Given the description of an element on the screen output the (x, y) to click on. 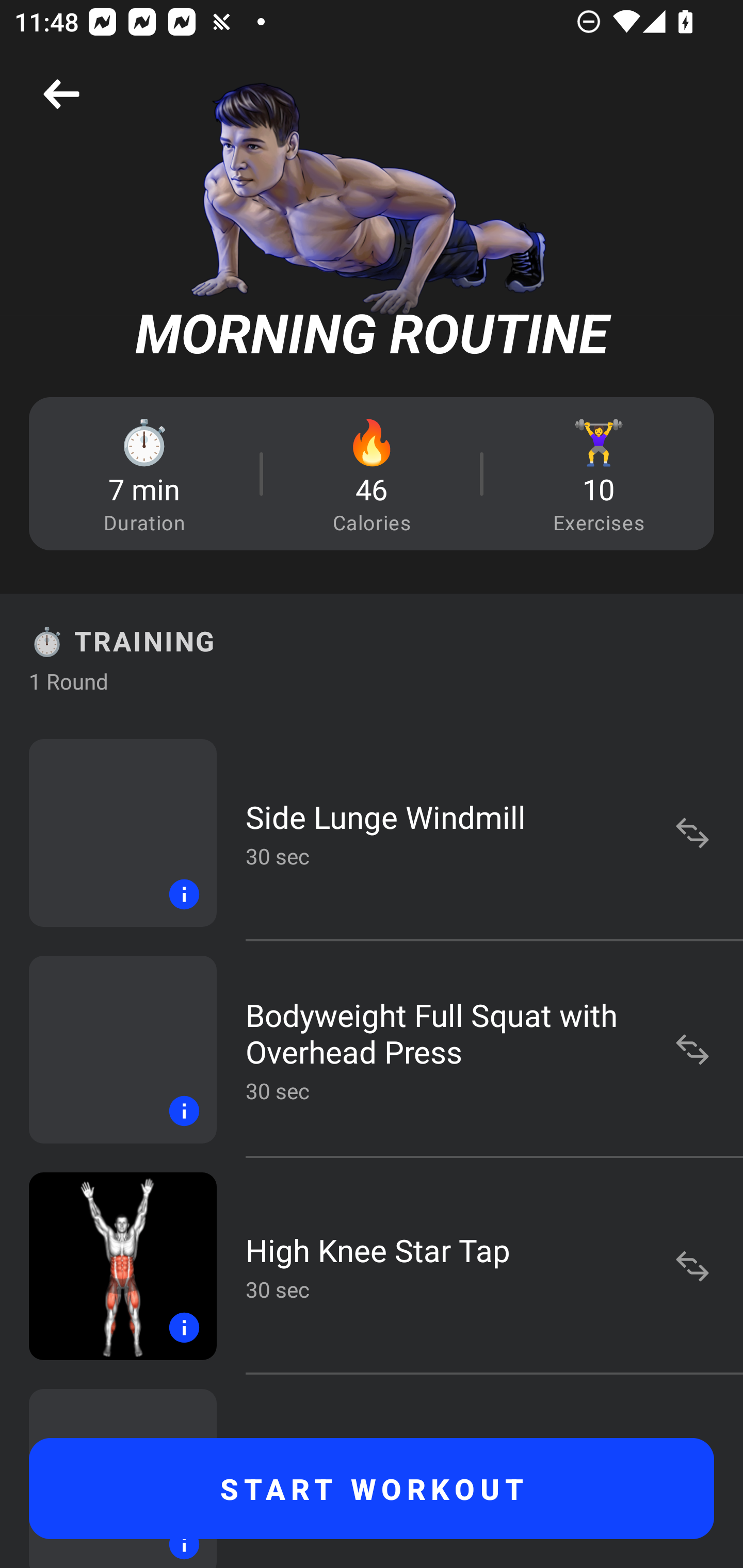
Side Lunge Windmill 30 sec (371, 832)
Bodyweight Full Squat with Overhead Press 30 sec (371, 1048)
High Knee Star Tap 30 sec (371, 1266)
START WORKOUT (371, 1488)
